Given the description of an element on the screen output the (x, y) to click on. 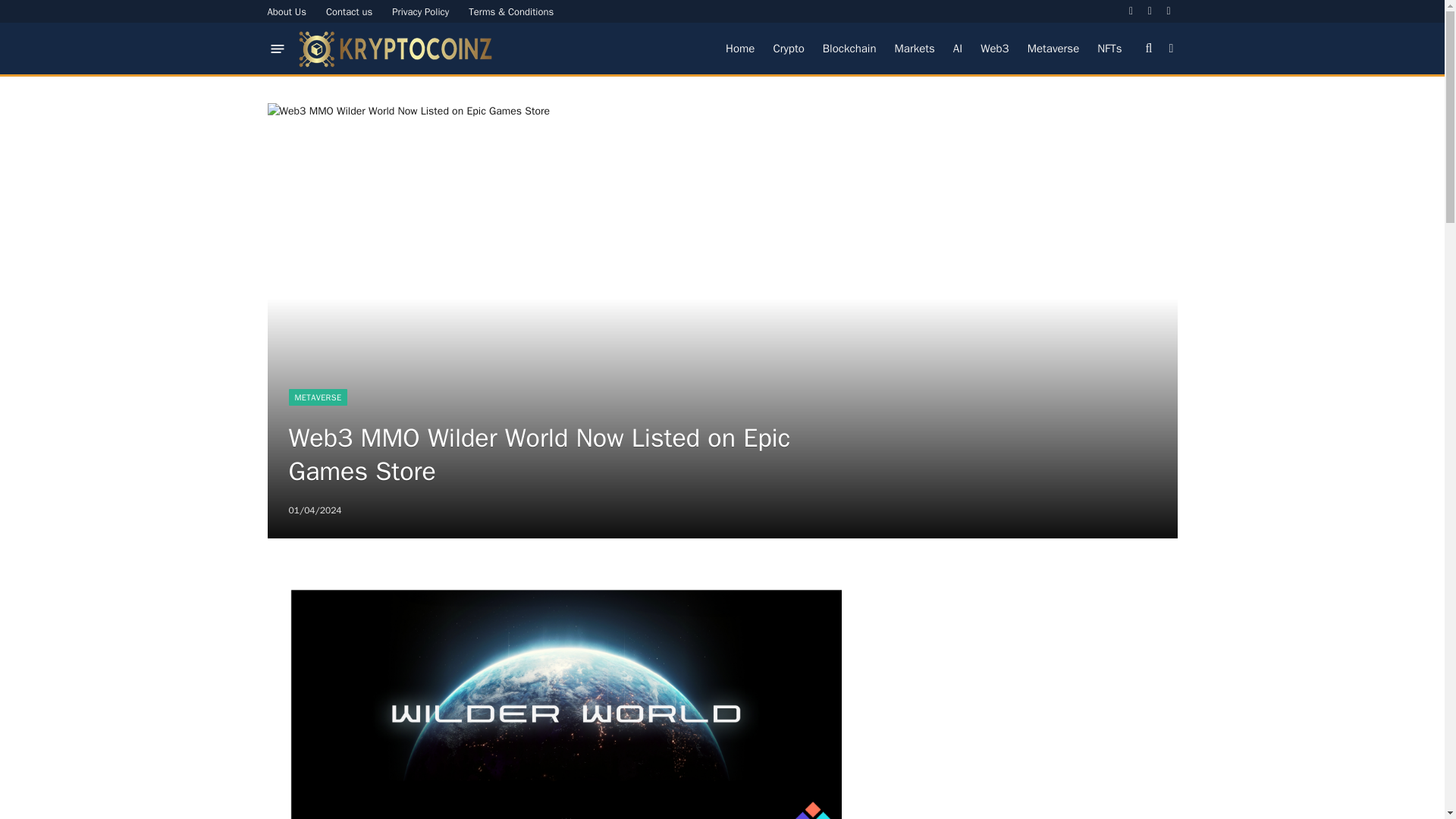
Markets (914, 48)
METAVERSE (317, 397)
KryptoCoinz (395, 48)
About Us (286, 11)
Metaverse (1053, 48)
Switch to Dark Design - easier on eyes. (1169, 48)
Privacy Policy (419, 11)
Home (739, 48)
Web3 (994, 48)
Blockchain (849, 48)
